Given the description of an element on the screen output the (x, y) to click on. 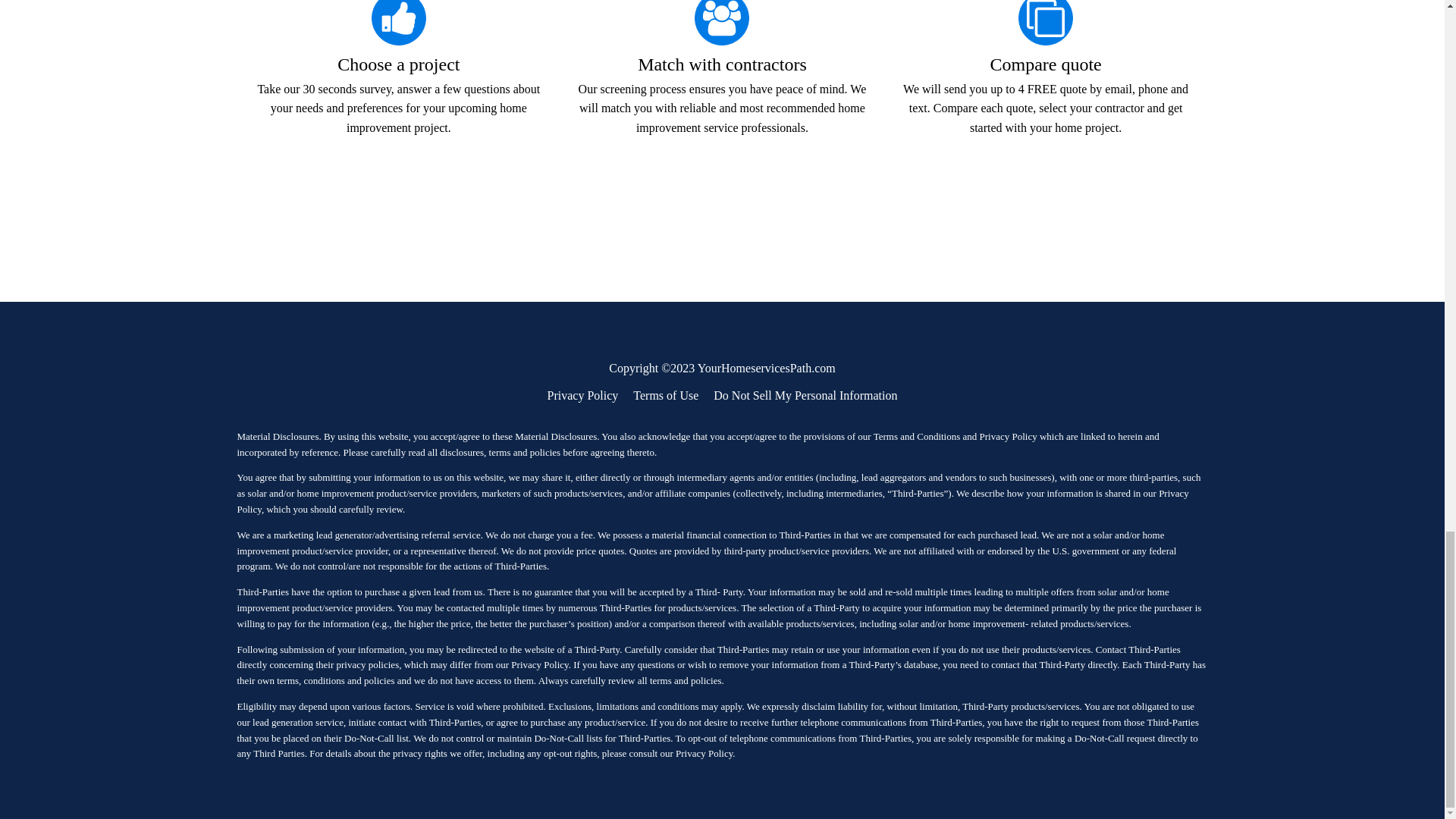
Privacy Policy (582, 395)
Do Not Sell My Personal Information (804, 395)
Terms of Use (665, 395)
